Given the description of an element on the screen output the (x, y) to click on. 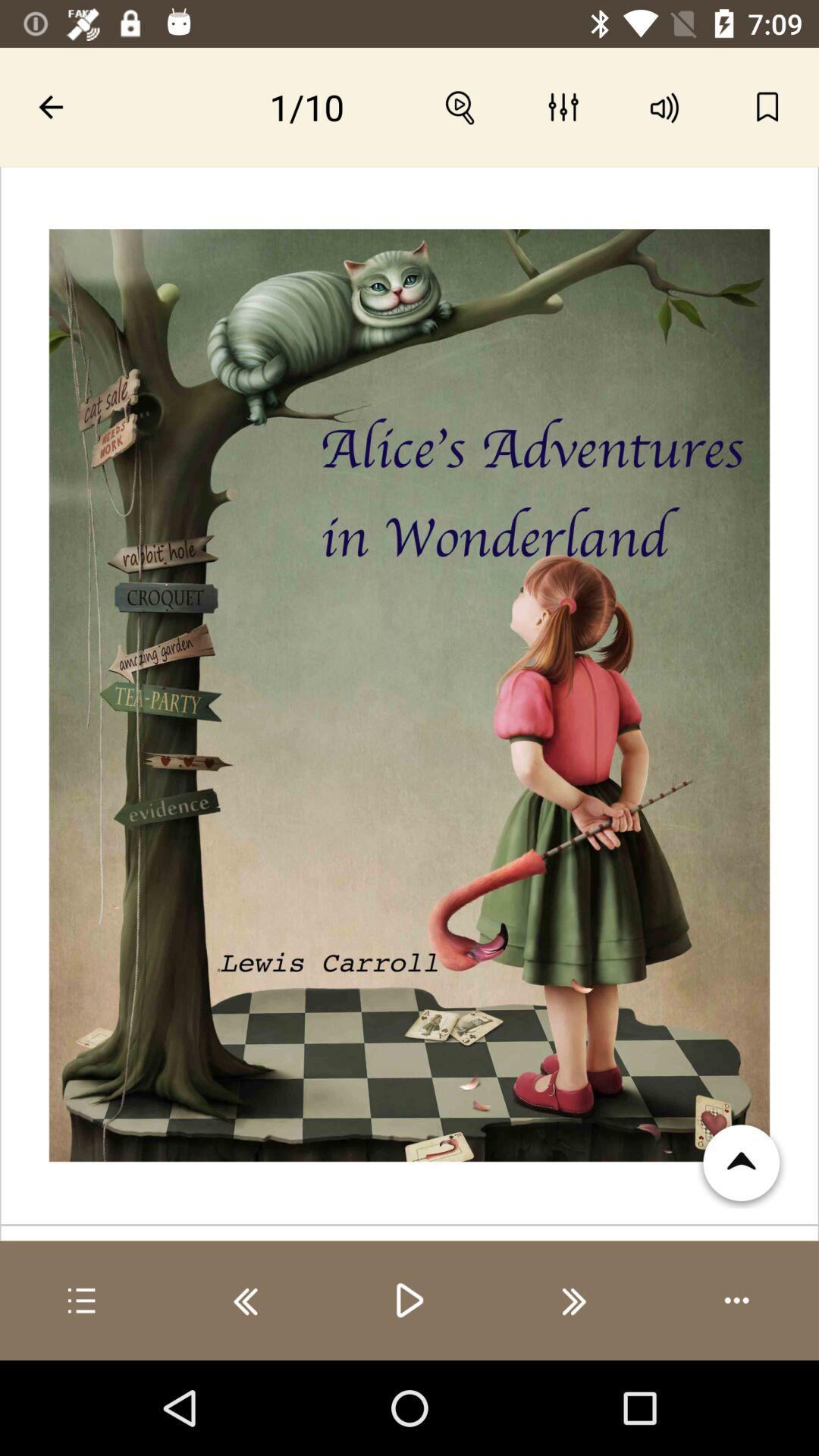
view next image (573, 1300)
